Given the description of an element on the screen output the (x, y) to click on. 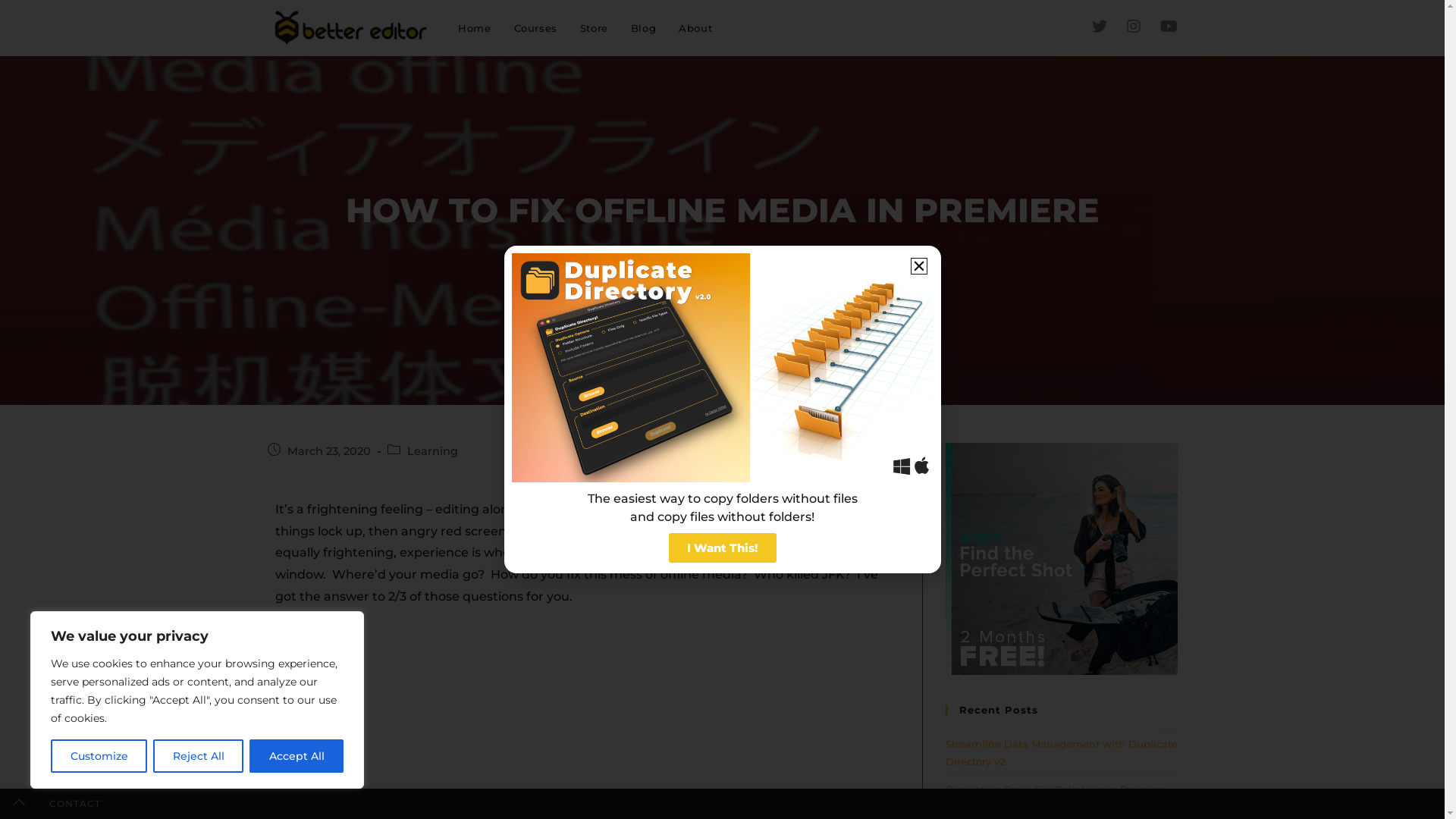
Reject All Element type: text (198, 755)
Learning Element type: text (636, 261)
Learning Element type: text (431, 451)
Courses Element type: text (535, 28)
Streamline Data Management with Duplicate Directory v2 Element type: text (1060, 752)
I Want This! Element type: text (722, 547)
How to Fix Offline Media in Premiere Element type: text (769, 261)
Blog Element type: text (643, 28)
Home Element type: text (474, 28)
Accept All Element type: text (296, 755)
About Element type: text (695, 28)
Preventing Proxy File Relinking in Premiere Pro Element type: text (1054, 797)
Customize Element type: text (98, 755)
Store Element type: text (593, 28)
